Given the description of an element on the screen output the (x, y) to click on. 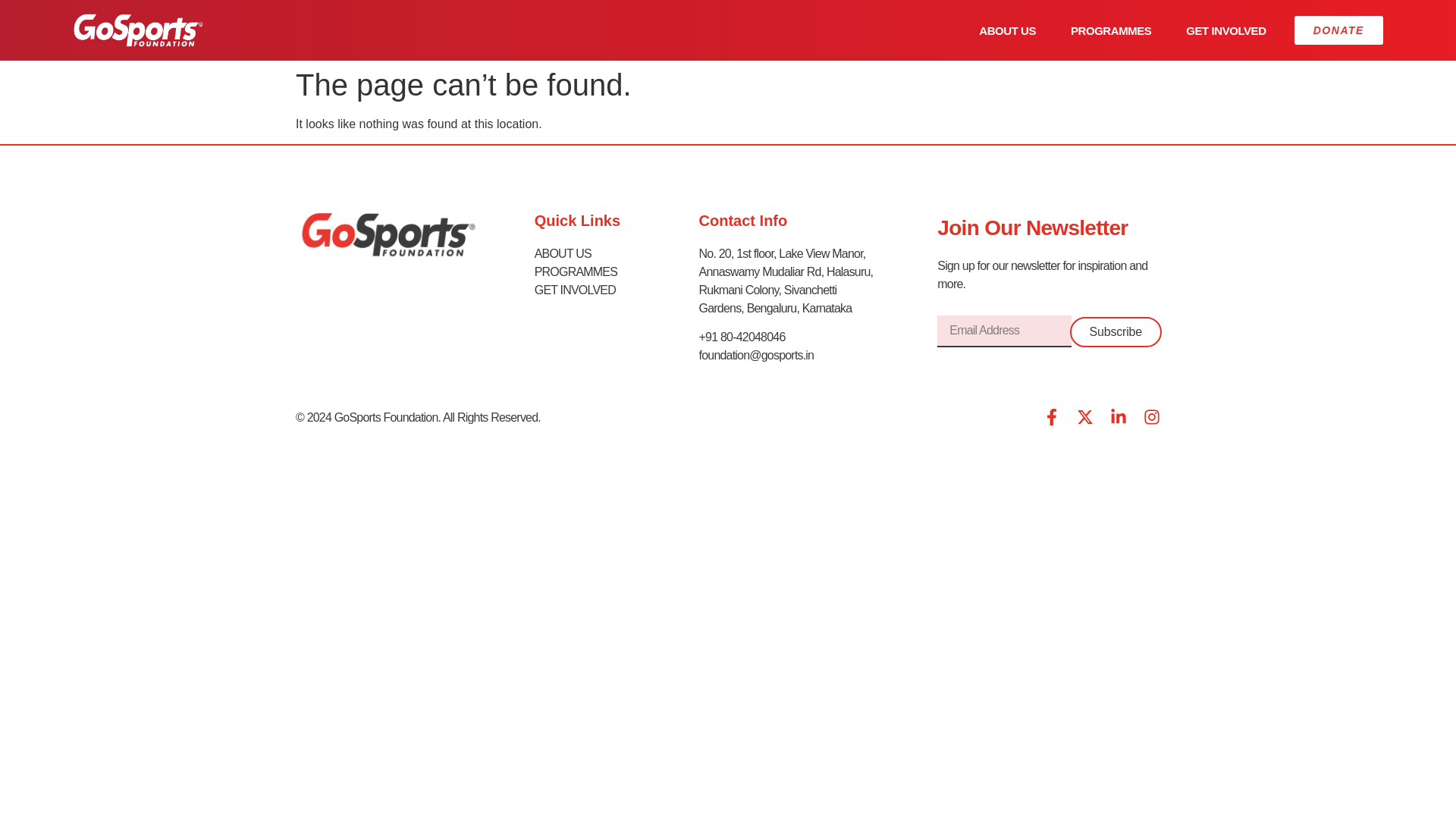
ABOUT US (590, 253)
GET INVOLVED (1225, 30)
ABOUT US (1007, 30)
PROGRAMMES (1110, 30)
Subscribe (1115, 331)
GET INVOLVED (590, 290)
DONATE (1338, 30)
PROGRAMMES (590, 271)
